Given the description of an element on the screen output the (x, y) to click on. 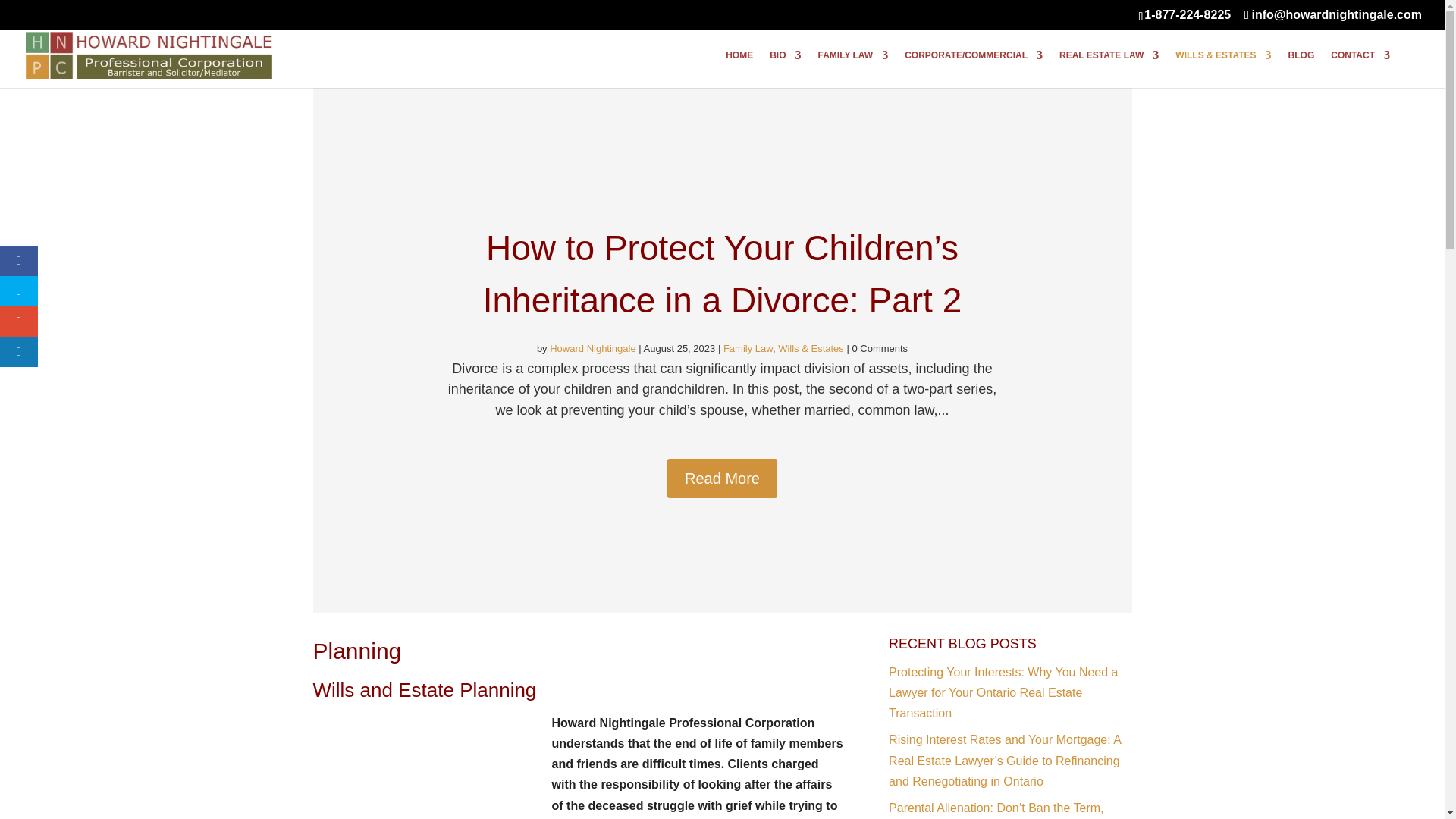
FAMILY LAW (853, 68)
Posts by Howard Nightingale (592, 348)
REAL ESTATE LAW (1108, 68)
